Given the description of an element on the screen output the (x, y) to click on. 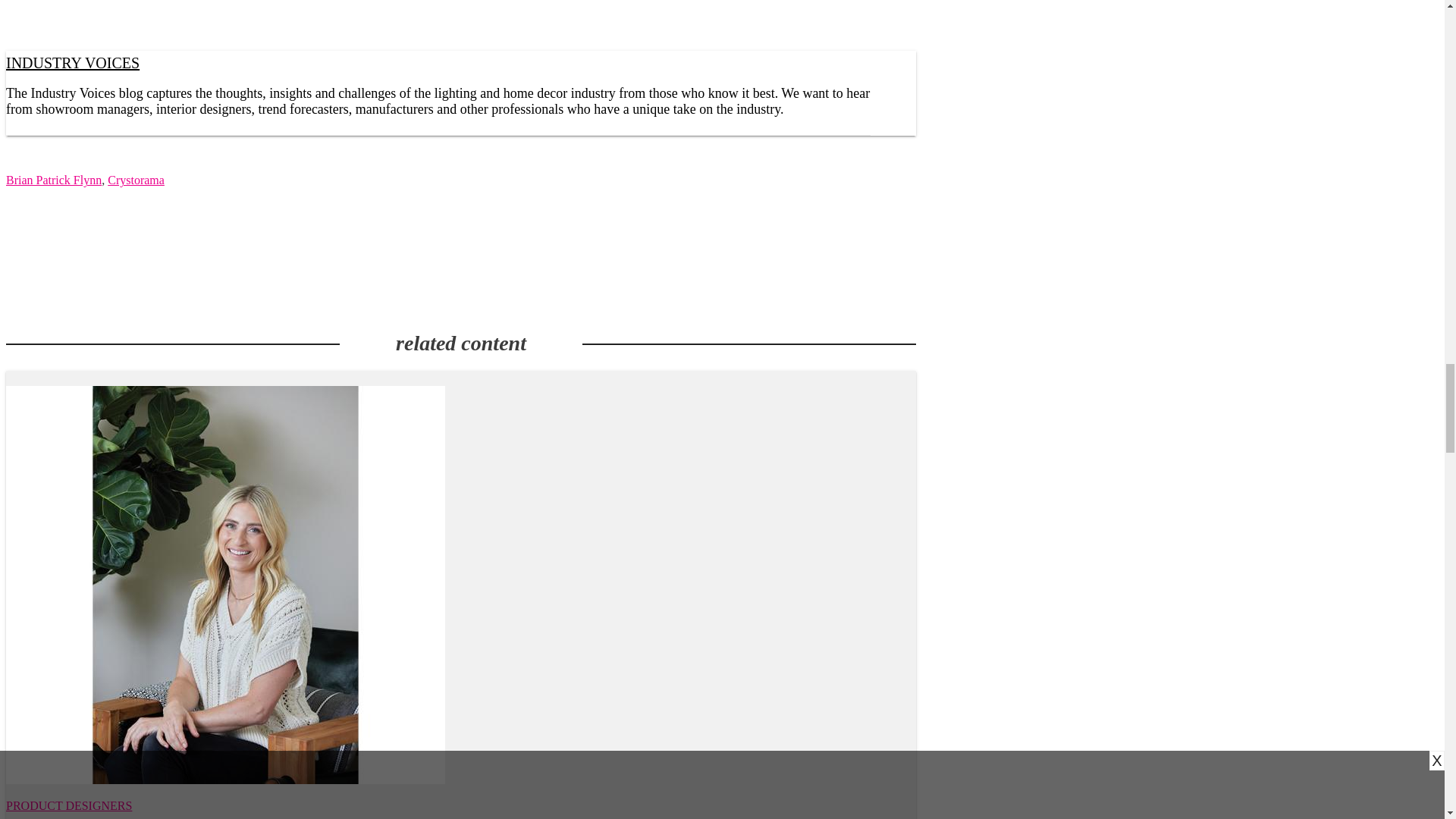
3rd party ad content (460, 259)
